Given the description of an element on the screen output the (x, y) to click on. 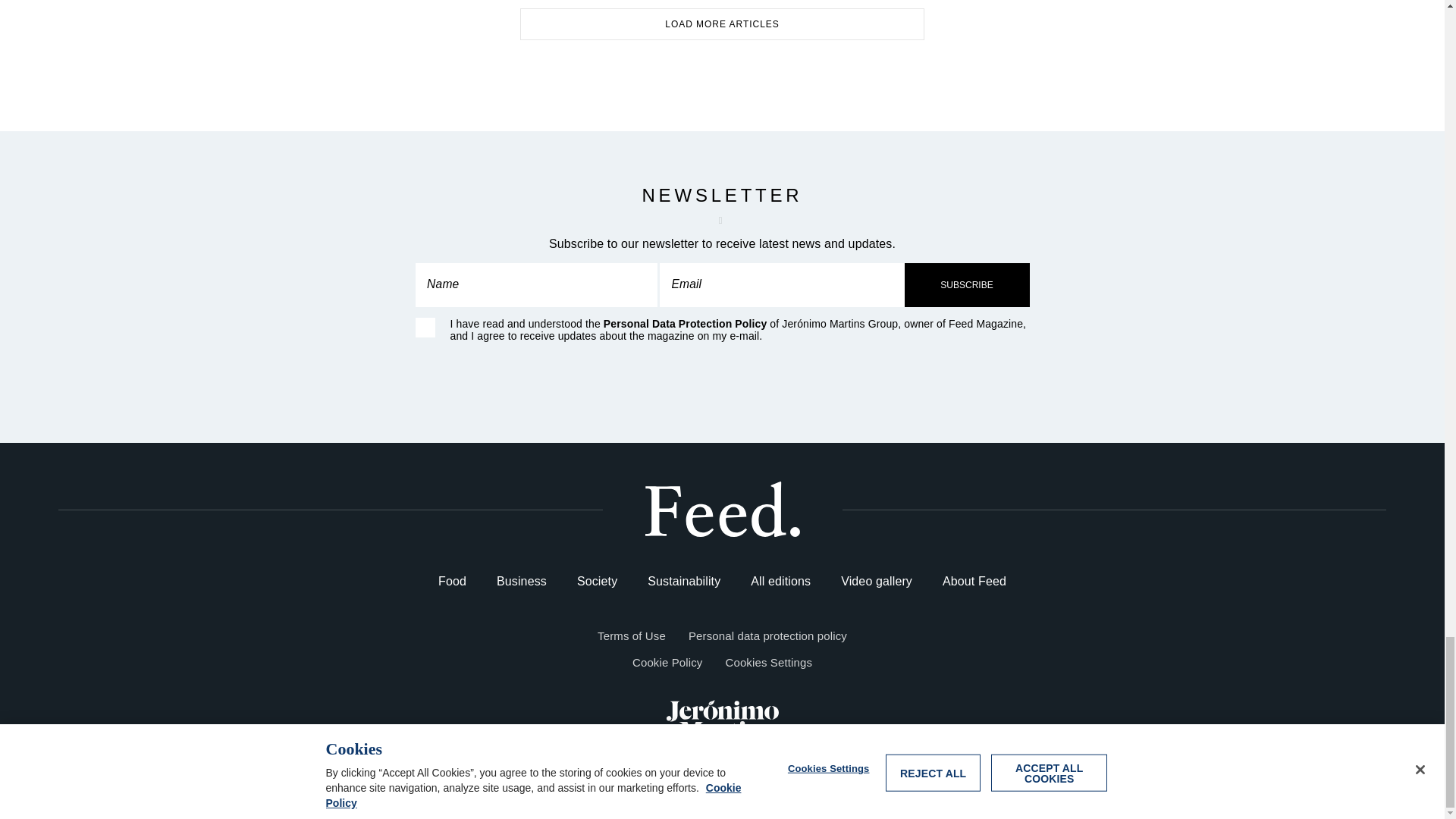
Subscribe (966, 284)
1 (424, 327)
